Given the description of an element on the screen output the (x, y) to click on. 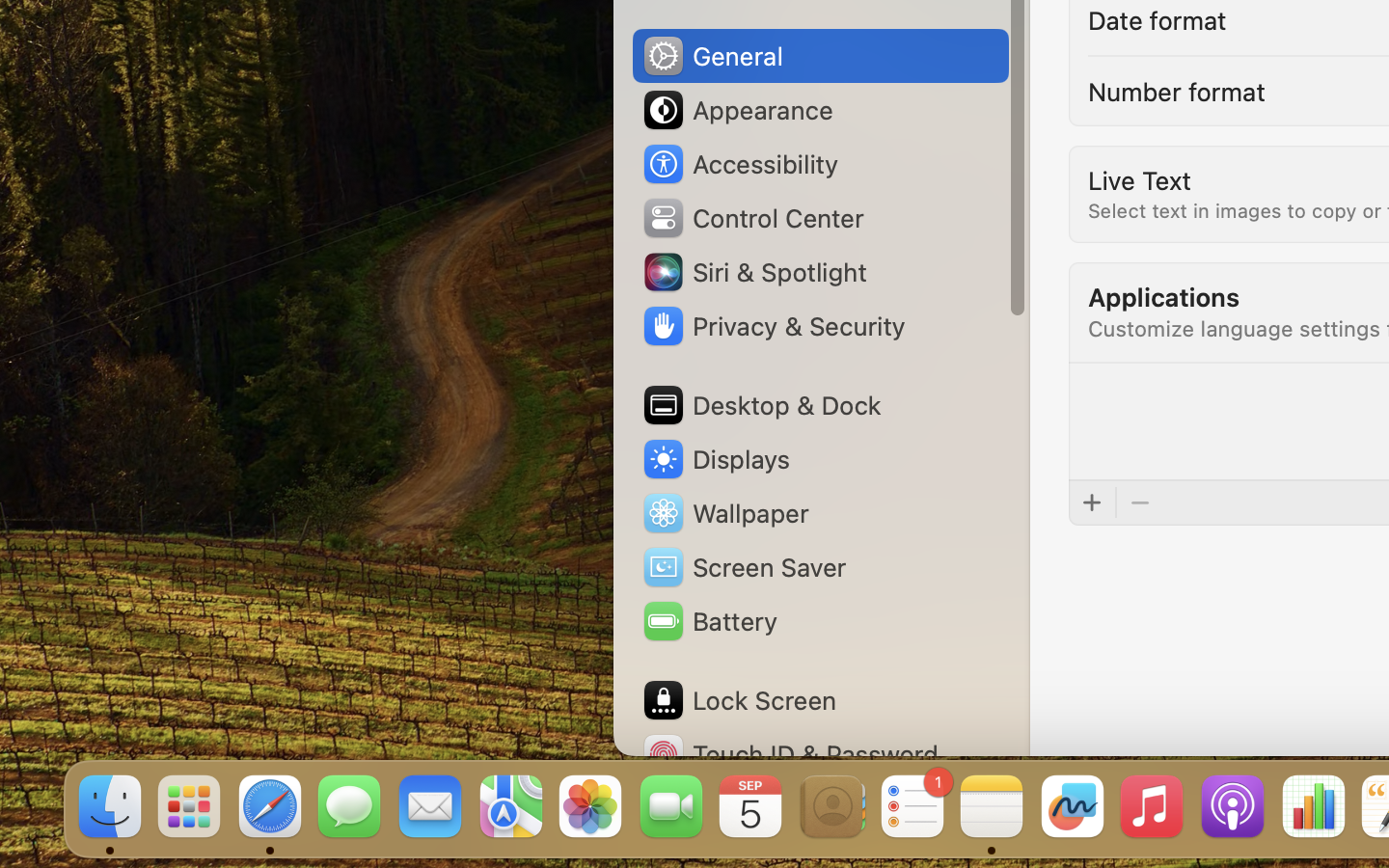
Control Center Element type: AXStaticText (752, 217)
Desktop & Dock Element type: AXStaticText (760, 404)
Appearance Element type: AXStaticText (736, 109)
Battery Element type: AXStaticText (708, 620)
Siri & Spotlight Element type: AXStaticText (753, 271)
